Given the description of an element on the screen output the (x, y) to click on. 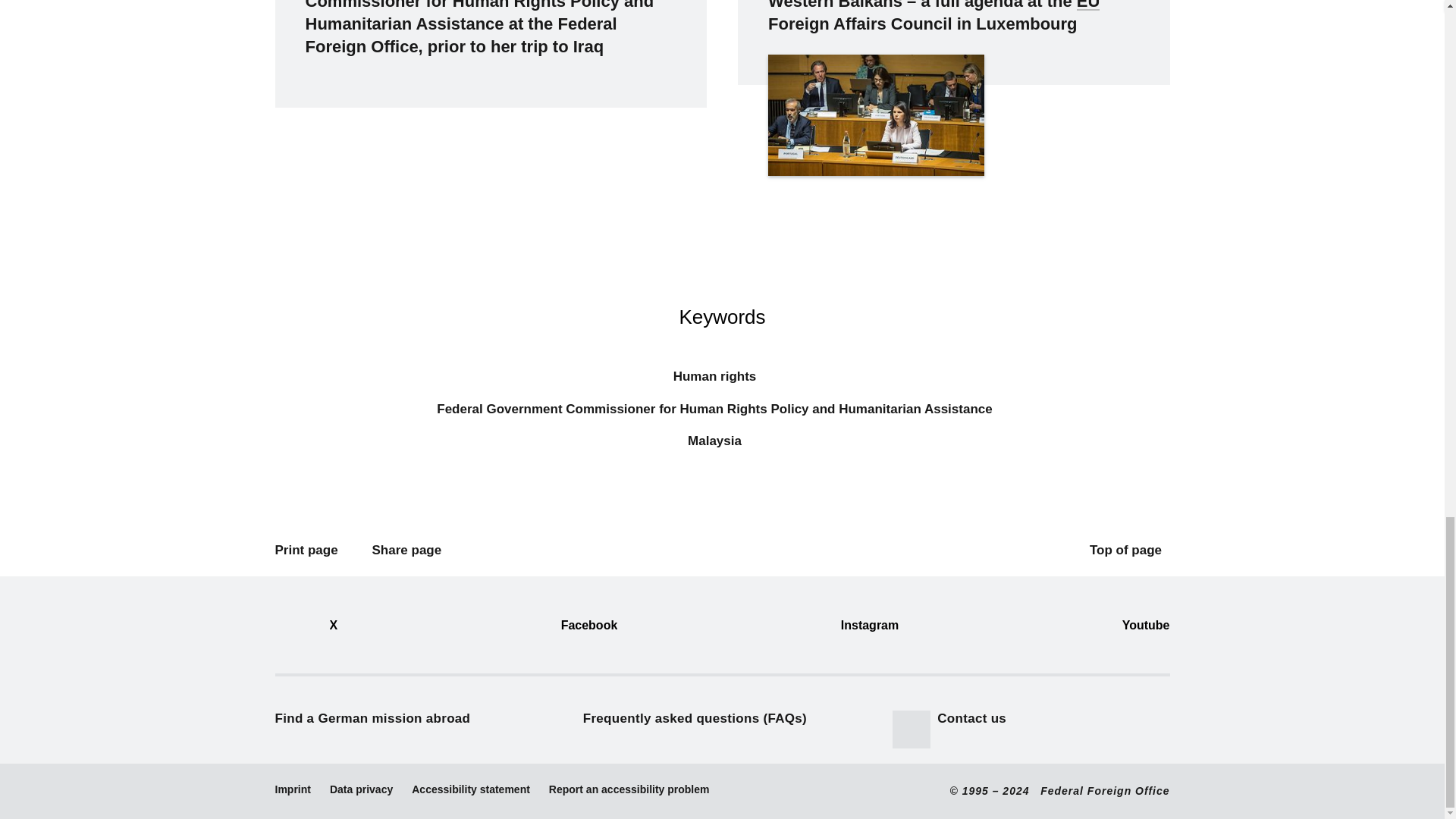
European Union (1088, 5)
